Given the description of an element on the screen output the (x, y) to click on. 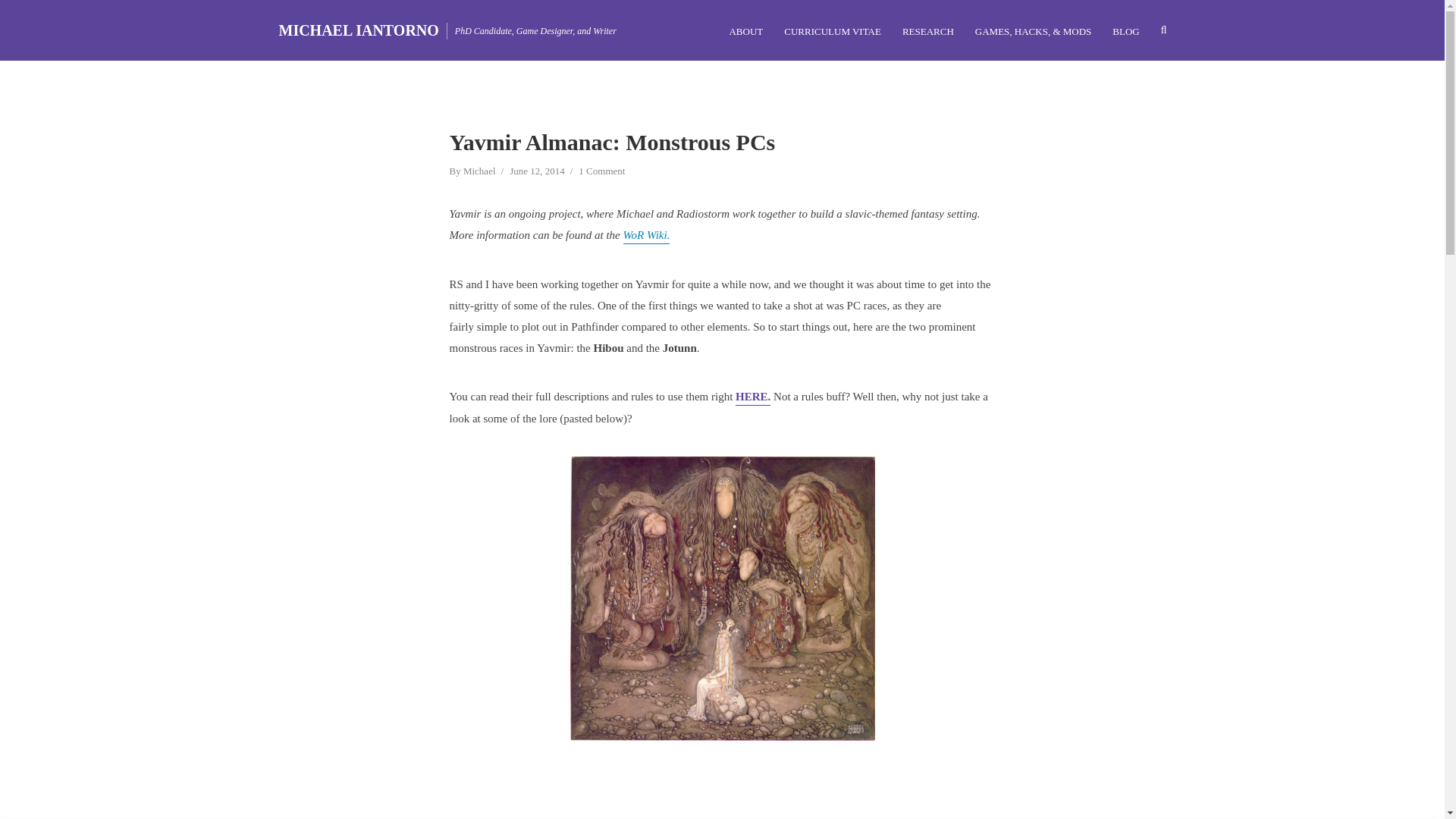
Michael (479, 172)
jotunn hibou (752, 397)
HERE. (752, 397)
1 Comment (601, 172)
WoR Wiki. (646, 236)
MICHAEL IANTORNO (359, 30)
BLOG (1126, 29)
world of ruin (646, 236)
CURRICULUM VITAE (832, 29)
RESEARCH (927, 29)
ABOUT (745, 29)
